Given the description of an element on the screen output the (x, y) to click on. 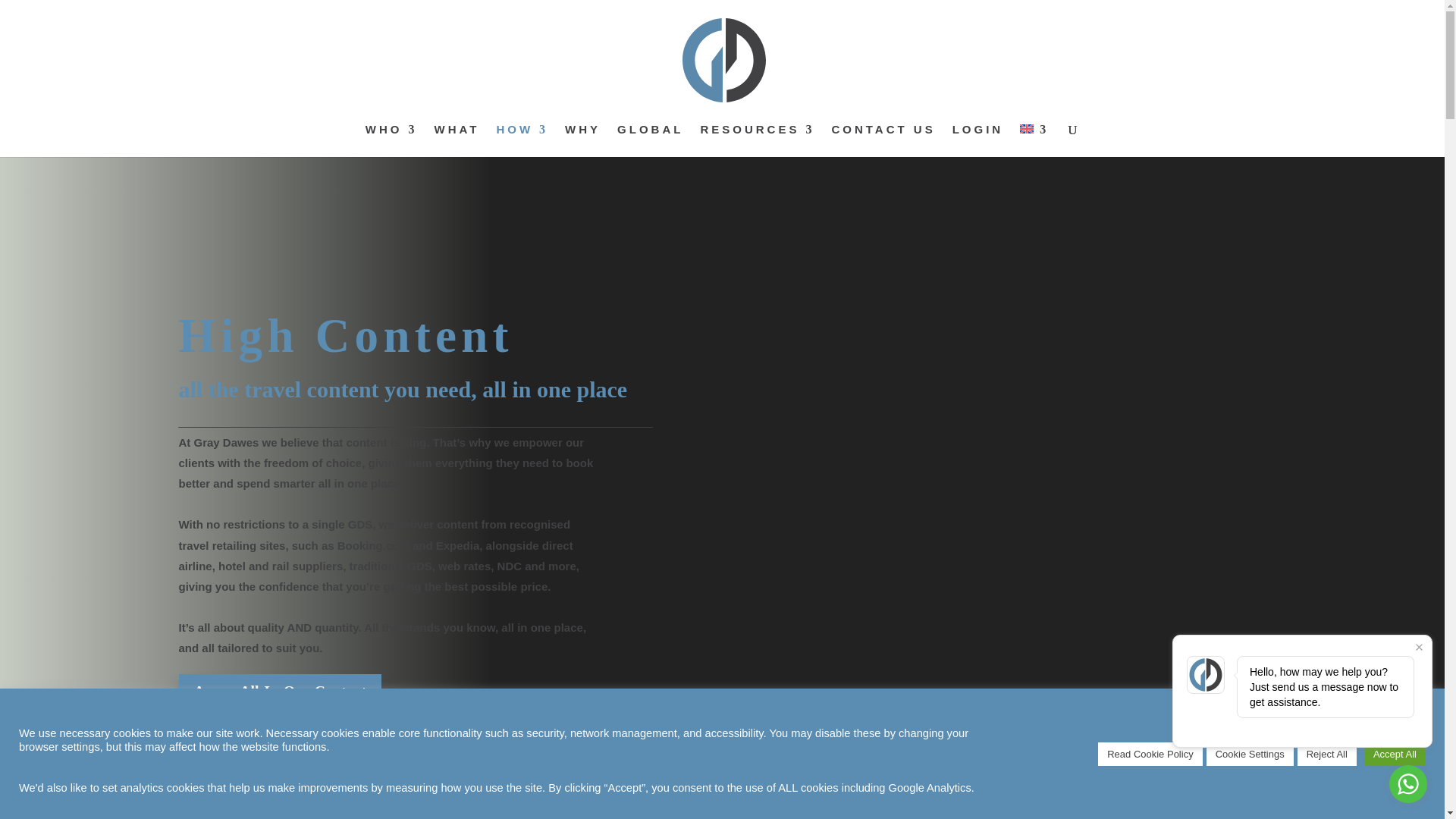
WHAT (456, 140)
7 (721, 810)
WHO (391, 140)
LOGIN (978, 140)
HOW (522, 140)
RESOURCES (756, 140)
WHY (581, 140)
GLOBAL (649, 140)
7 (721, 810)
CONTACT US (882, 140)
